Given the description of an element on the screen output the (x, y) to click on. 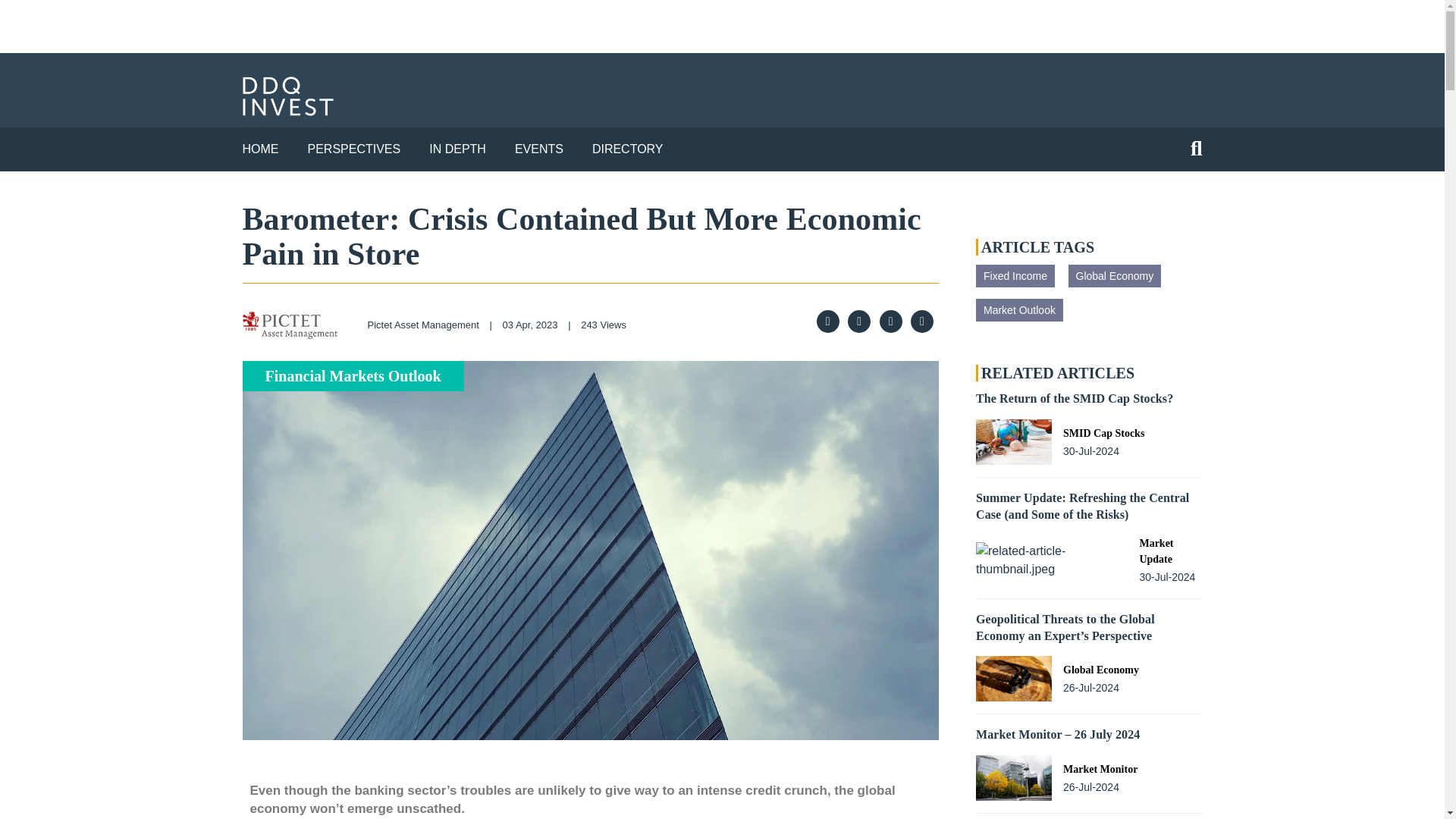
SMID Cap Stocks (1103, 433)
Market Update (1170, 551)
Market Outlook (1018, 309)
The Return of the SMID Cap Stocks? (1074, 398)
EVENTS (539, 149)
Market Monitor (1099, 769)
Global Economy (1100, 669)
Fixed Income (1014, 275)
DIRECTORY (627, 149)
Global Economy (1113, 275)
